Given the description of an element on the screen output the (x, y) to click on. 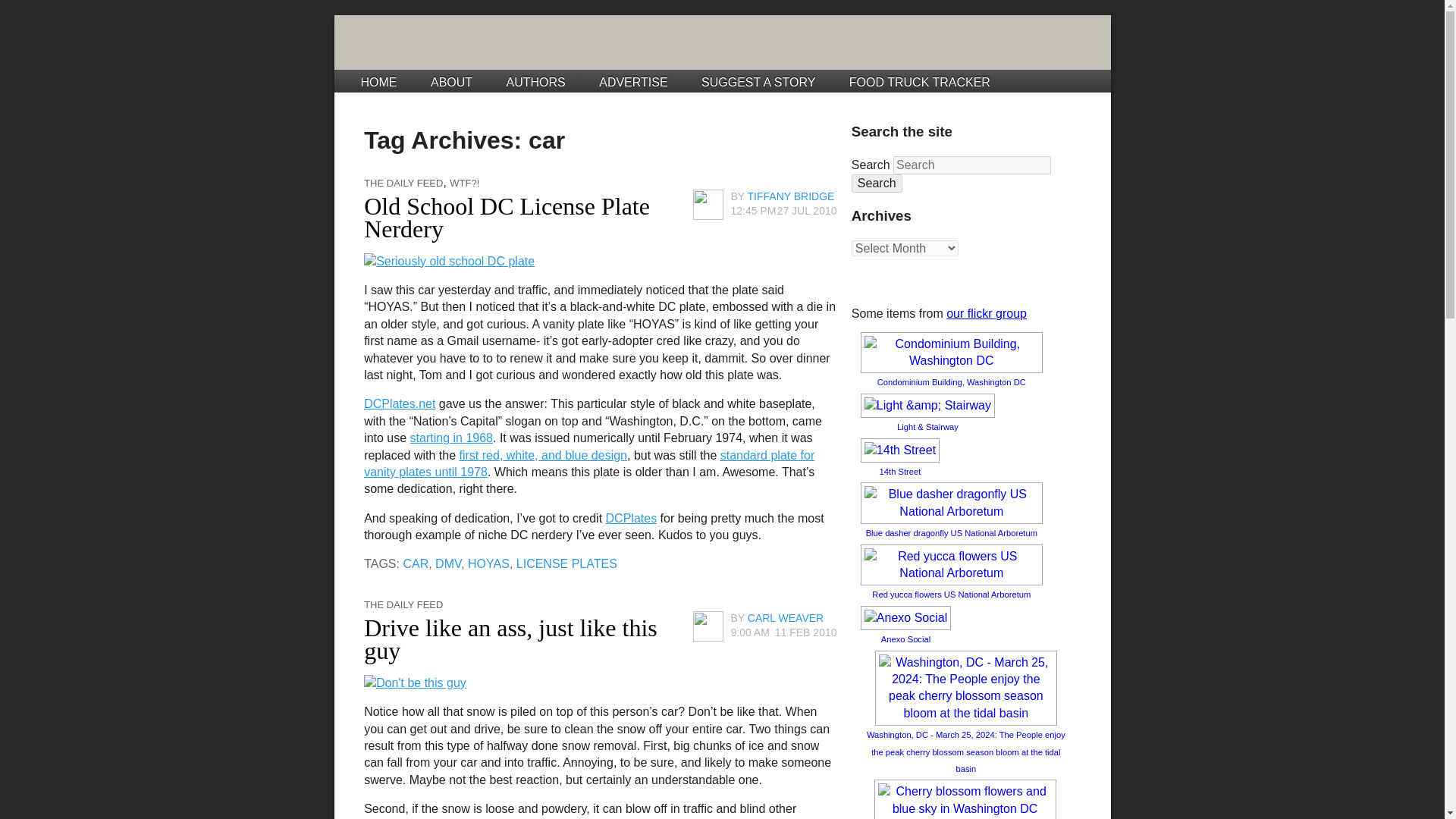
Old School DC License Plate Nerdery (506, 217)
DMV (448, 563)
first red, white, and blue design (543, 454)
DCPlates.net (399, 403)
LICENSE PLATES (566, 563)
Drive like an ass, just like this guy (511, 639)
ADVERTISE (632, 82)
DCPlates (631, 517)
Permalink to Old School DC License Plate Nerdery (506, 217)
CAR (415, 563)
THE DAILY FEED (403, 604)
starting in 1968 (451, 437)
WTF?! (464, 183)
HOME (379, 82)
Seriously old school DC plate by tiffany bridge, on Flickr (449, 259)
